Given the description of an element on the screen output the (x, y) to click on. 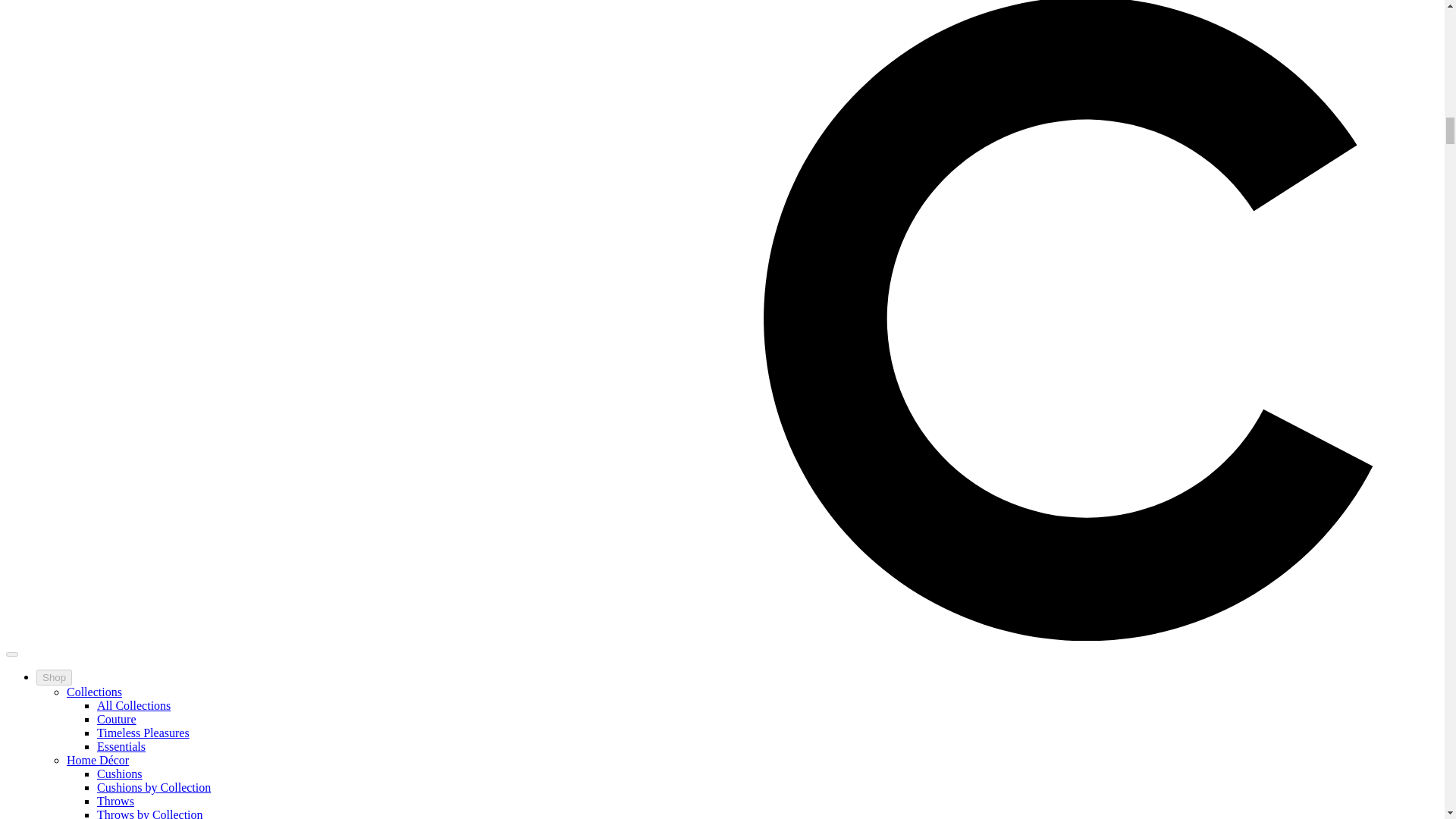
Throws (115, 800)
Cushions by Collection (154, 787)
Cushions (119, 773)
Shop (53, 677)
Couture (116, 718)
Throws by Collection (150, 813)
All Collections (133, 705)
Timeless Pleasures (143, 732)
Collections (94, 691)
Essentials (121, 746)
